Given the description of an element on the screen output the (x, y) to click on. 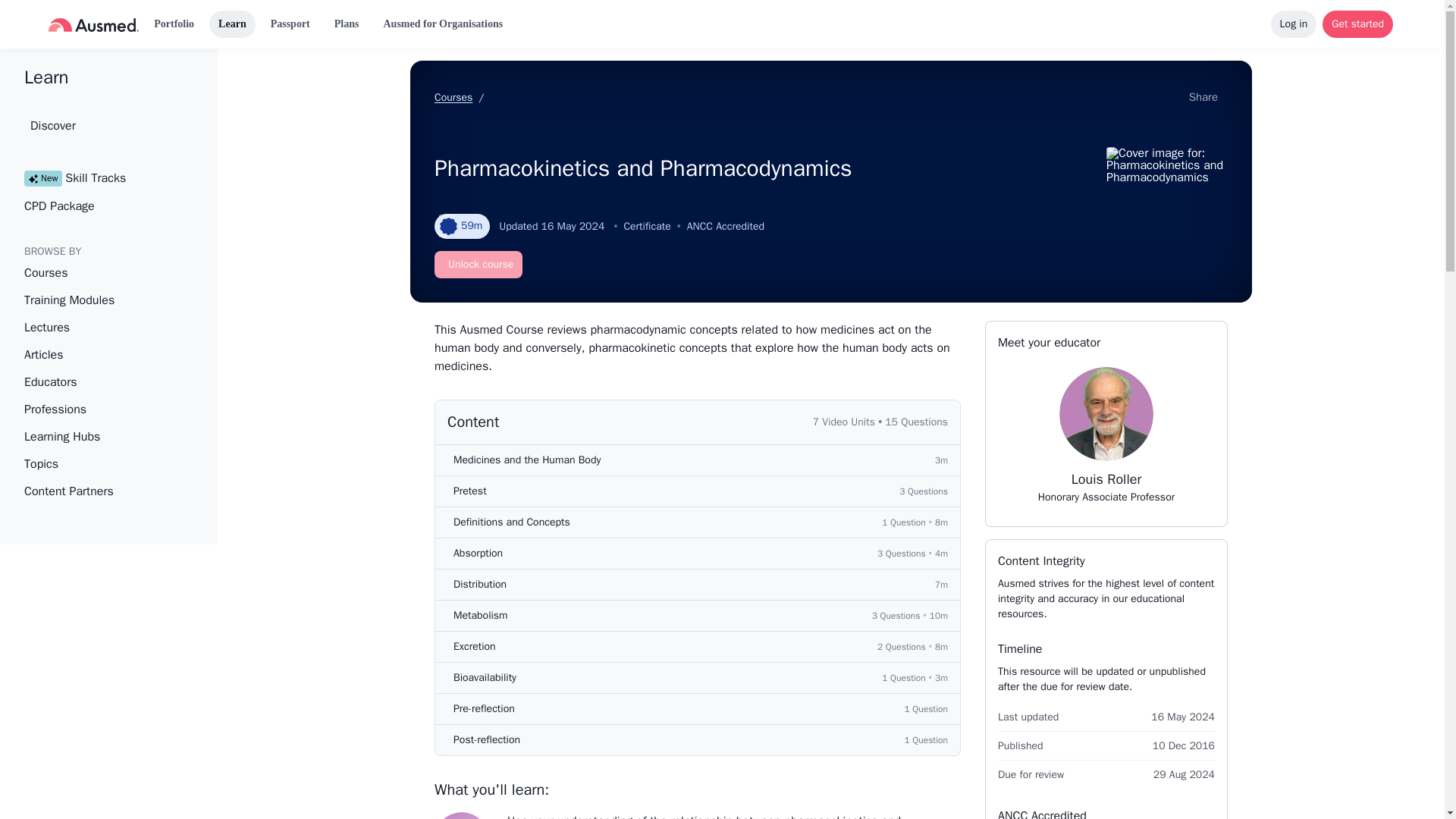
CPD Package (96, 206)
Portfolio (173, 23)
Log in (1294, 23)
Training Modules (96, 299)
Ausmed for Organisations (1106, 435)
Educators (443, 23)
Get started (96, 381)
Discover (1357, 23)
Lectures (96, 125)
